Given the description of an element on the screen output the (x, y) to click on. 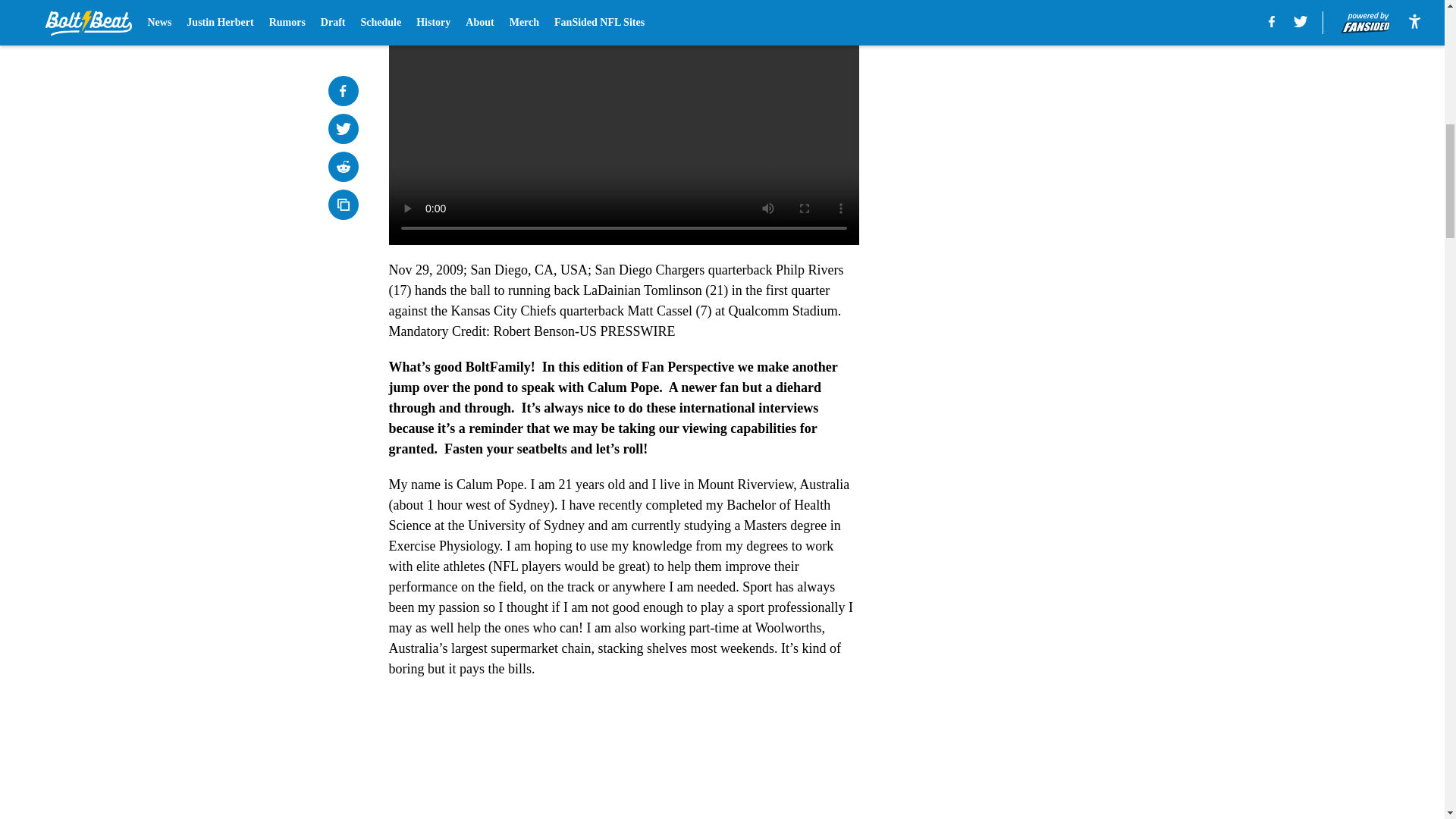
3rd party ad content (1047, 294)
3rd party ad content (1047, 84)
